Given the description of an element on the screen output the (x, y) to click on. 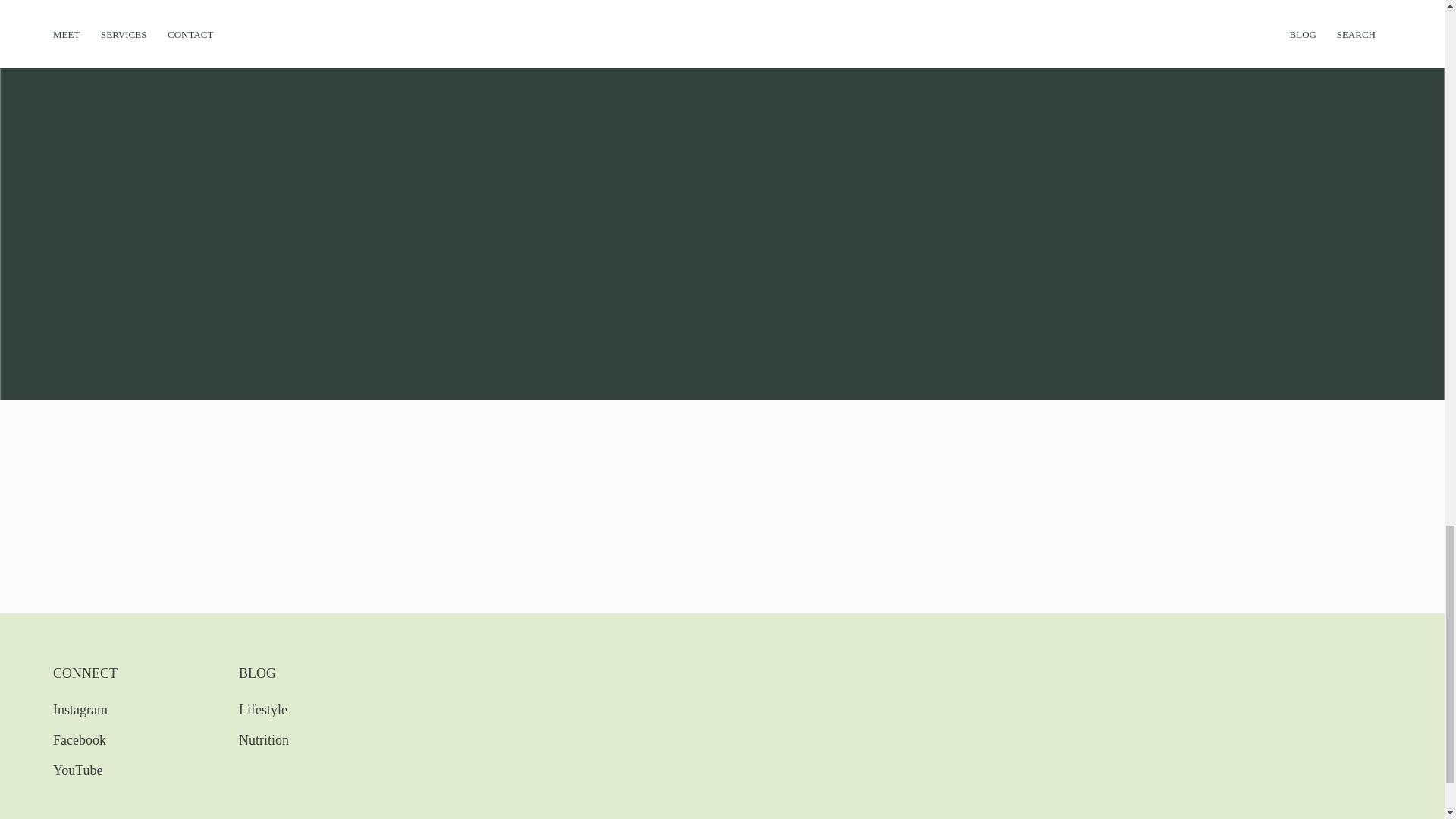
YouTube (104, 768)
Facebook (104, 737)
Nutrition (290, 737)
Lifestyle (290, 707)
Instagram (104, 707)
